Given the description of an element on the screen output the (x, y) to click on. 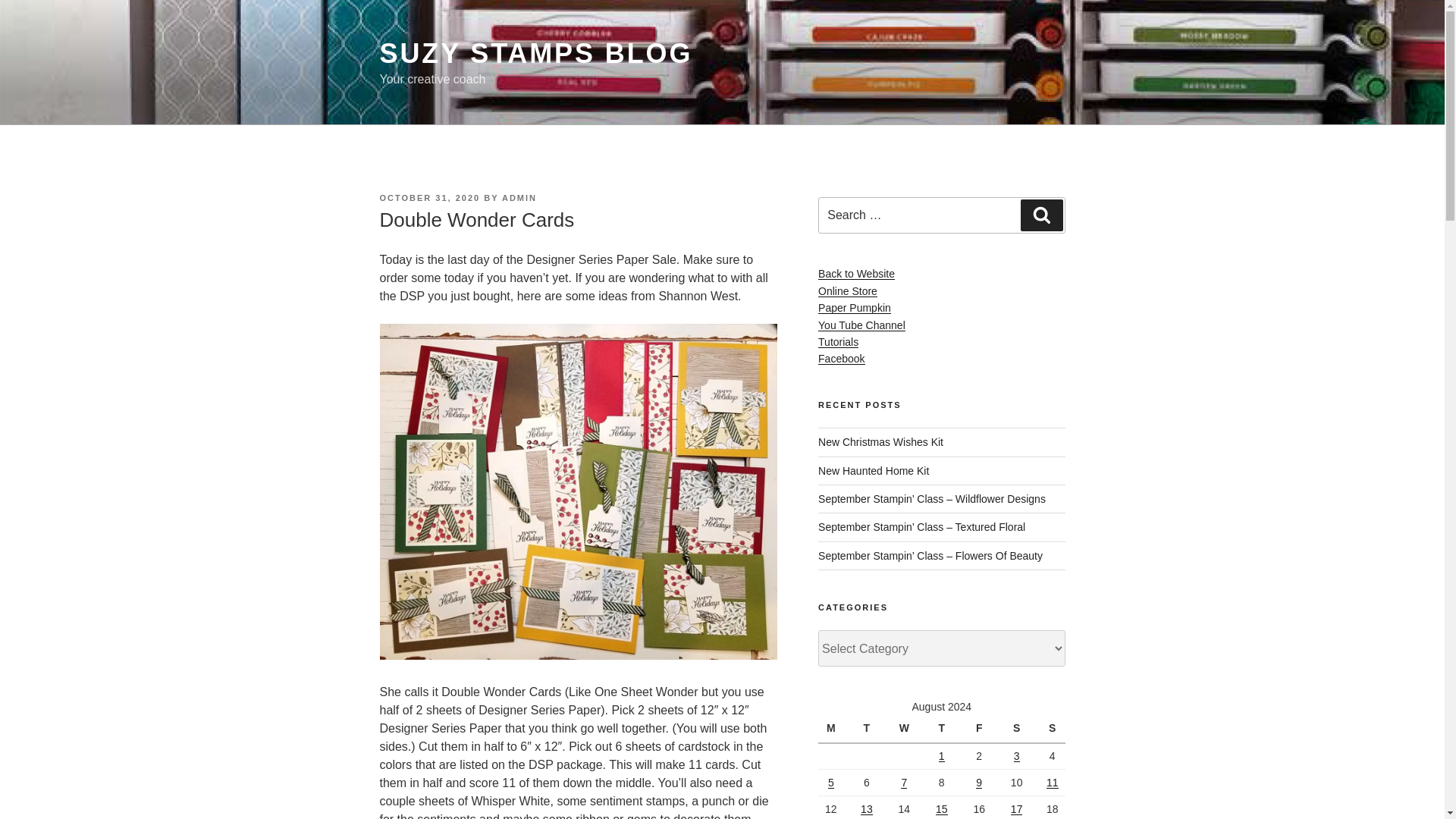
Saturday (1016, 728)
Search (1041, 214)
17 (1016, 808)
Thursday (941, 728)
Tuesday (866, 728)
13 (866, 808)
Tutorials (838, 341)
ADMIN (519, 197)
OCTOBER 31, 2020 (429, 197)
